Given the description of an element on the screen output the (x, y) to click on. 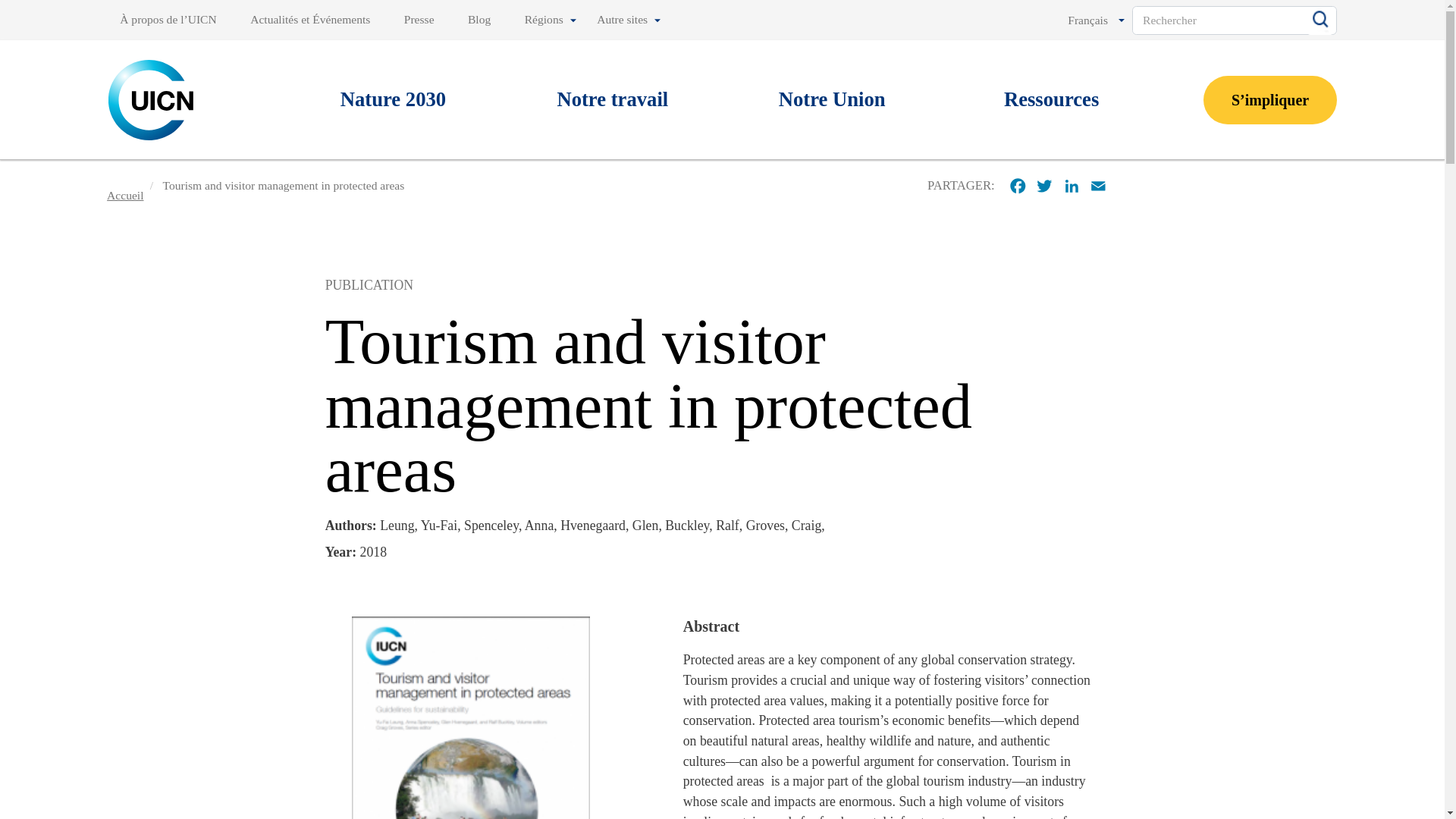
Blog (479, 20)
Nature 2030 (392, 99)
Aller au contenu principal (721, 1)
Accueil (151, 99)
Presse (419, 20)
